Given the description of an element on the screen output the (x, y) to click on. 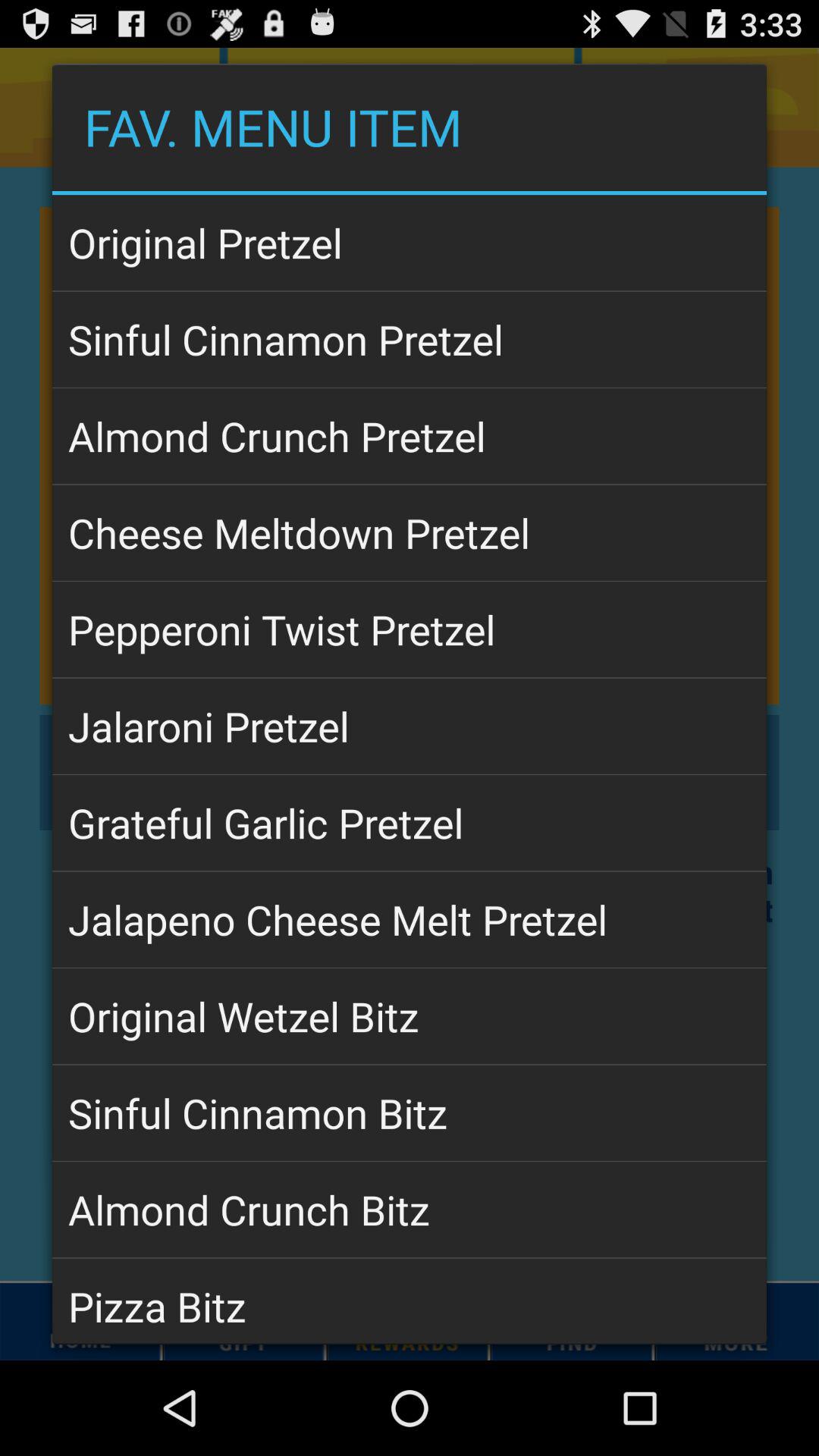
choose app above the sinful cinnamon pretzel (409, 242)
